Given the description of an element on the screen output the (x, y) to click on. 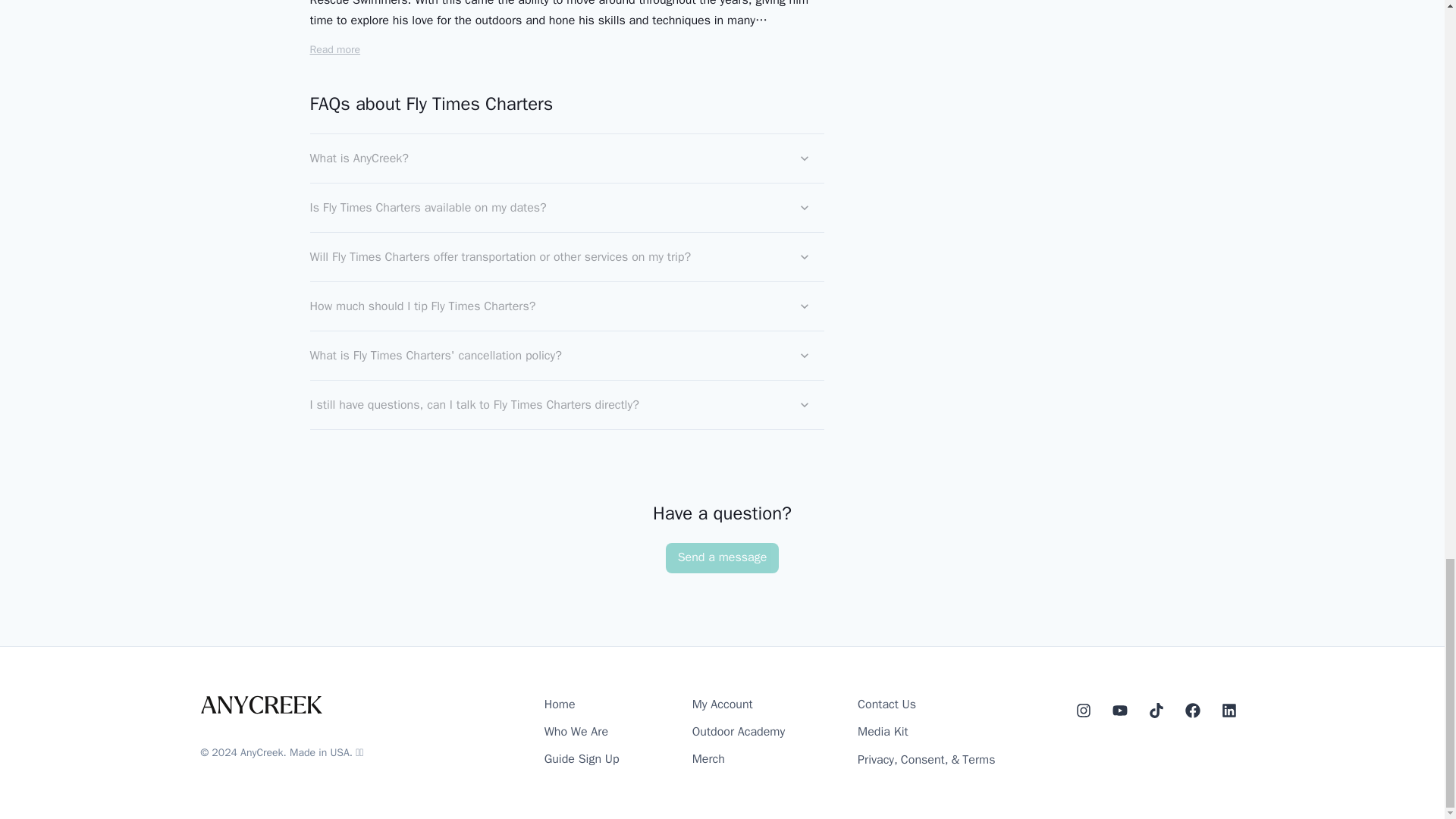
What is AnyCreek? (566, 158)
Media Kit (882, 731)
Send a message (721, 557)
Home (559, 704)
Terms (978, 760)
Who We Are (576, 731)
Privacy, (877, 760)
Contact Us (886, 704)
